Given the description of an element on the screen output the (x, y) to click on. 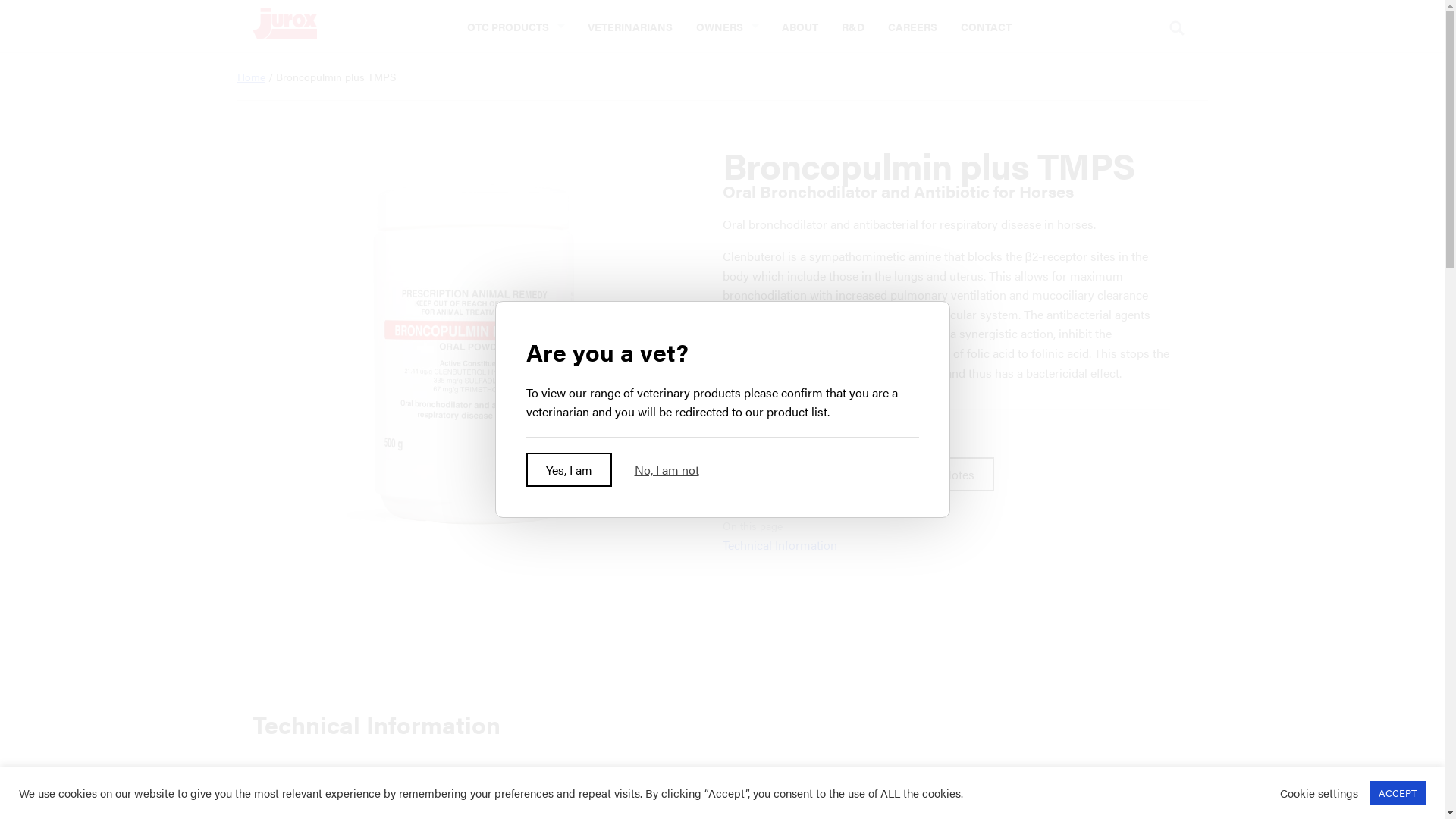
CAREERS Element type: text (911, 25)
Cookie settings Element type: text (1319, 792)
Home Element type: text (250, 76)
R&D Element type: text (852, 25)
VETERINARIANS Element type: text (629, 25)
ABOUT Element type: text (799, 25)
Yes, I am Element type: text (568, 469)
Technical Notes Element type: text (932, 474)
CONTACT Element type: text (985, 25)
ACCEPT Element type: text (1397, 792)
OWNERS Element type: text (726, 25)
OTC PRODUCTS Element type: text (515, 25)
Technical Information Element type: text (778, 545)
Safety Data Sheet Element type: text (788, 474)
No, I am not Element type: text (665, 469)
